Given the description of an element on the screen output the (x, y) to click on. 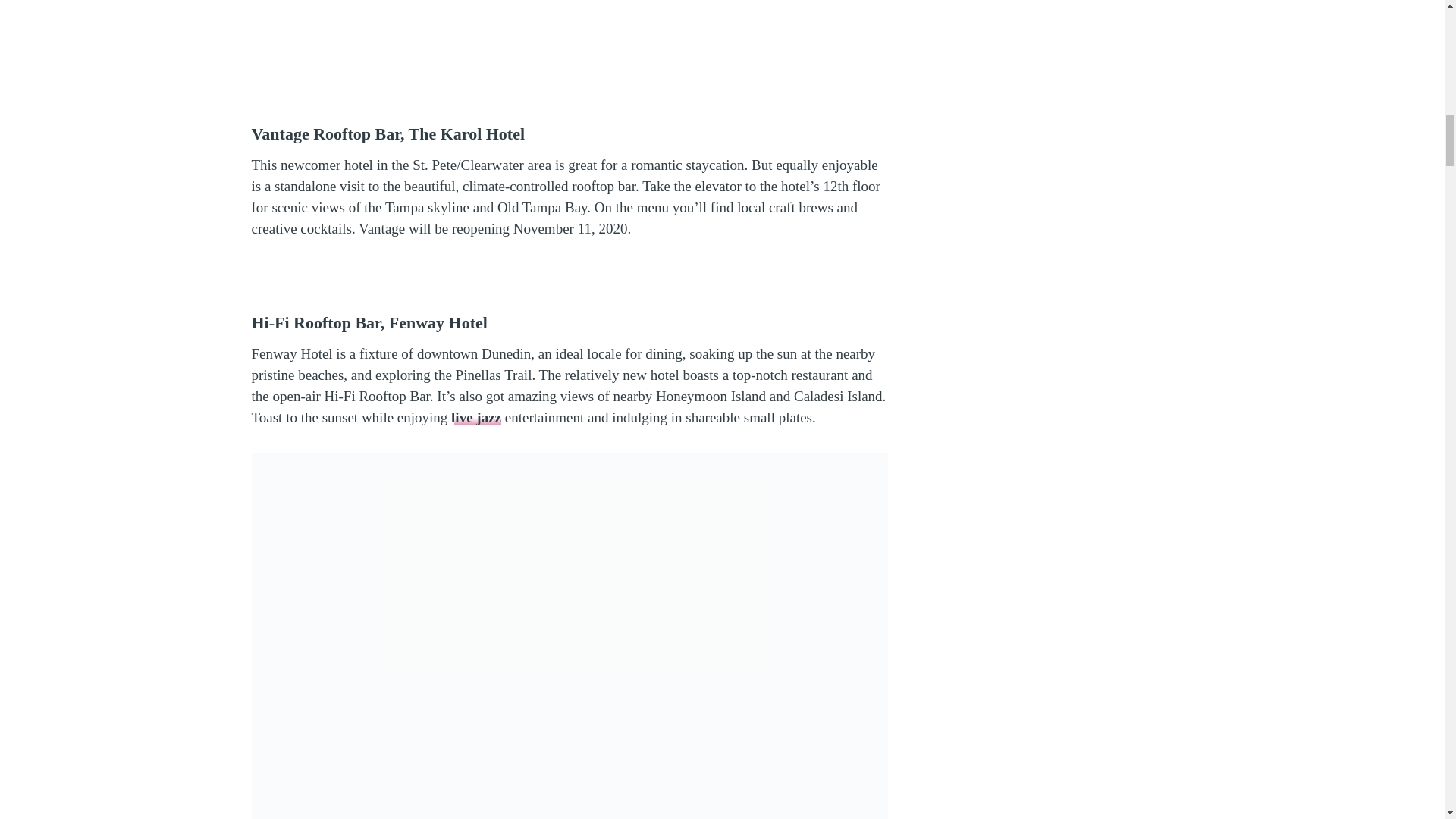
live jazz (475, 417)
Vantage Rooftop Bar, The Karol Hotel (388, 133)
Hi-Fi Rooftop Bar, Fenway Hotel (369, 322)
